Given the description of an element on the screen output the (x, y) to click on. 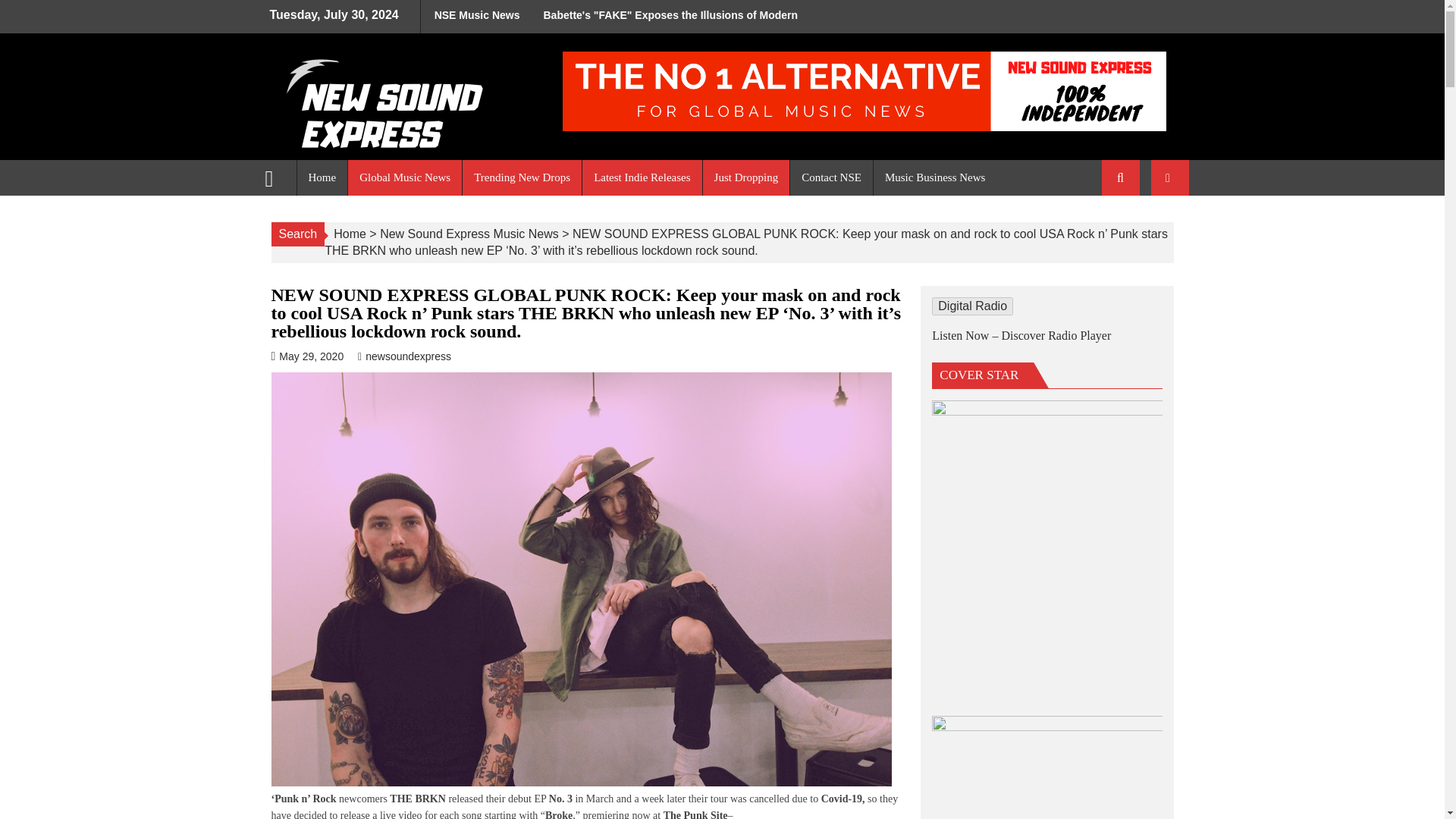
Digital Radio (972, 306)
